Given the description of an element on the screen output the (x, y) to click on. 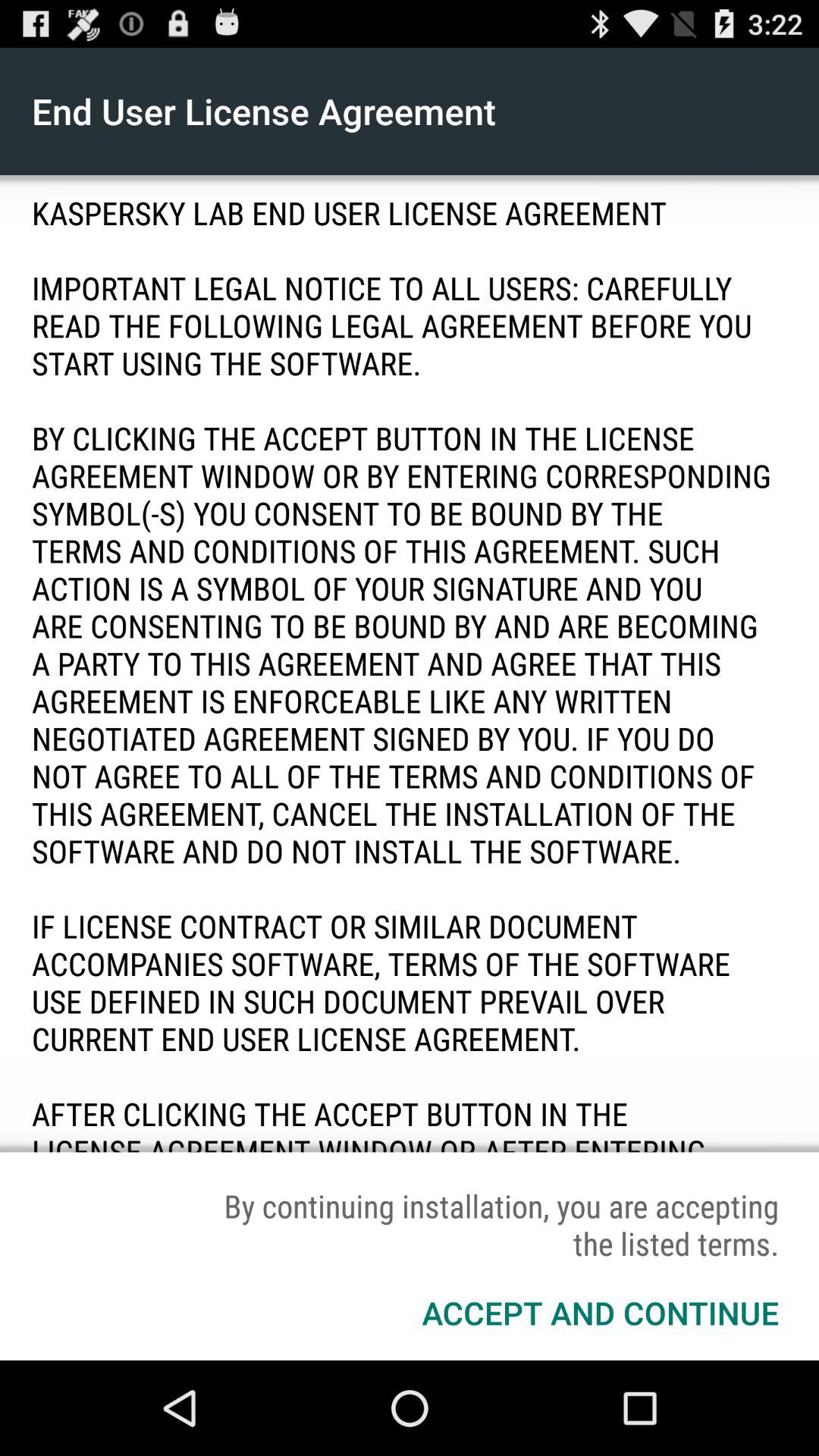
turn on accept and continue icon (600, 1312)
